Given the description of an element on the screen output the (x, y) to click on. 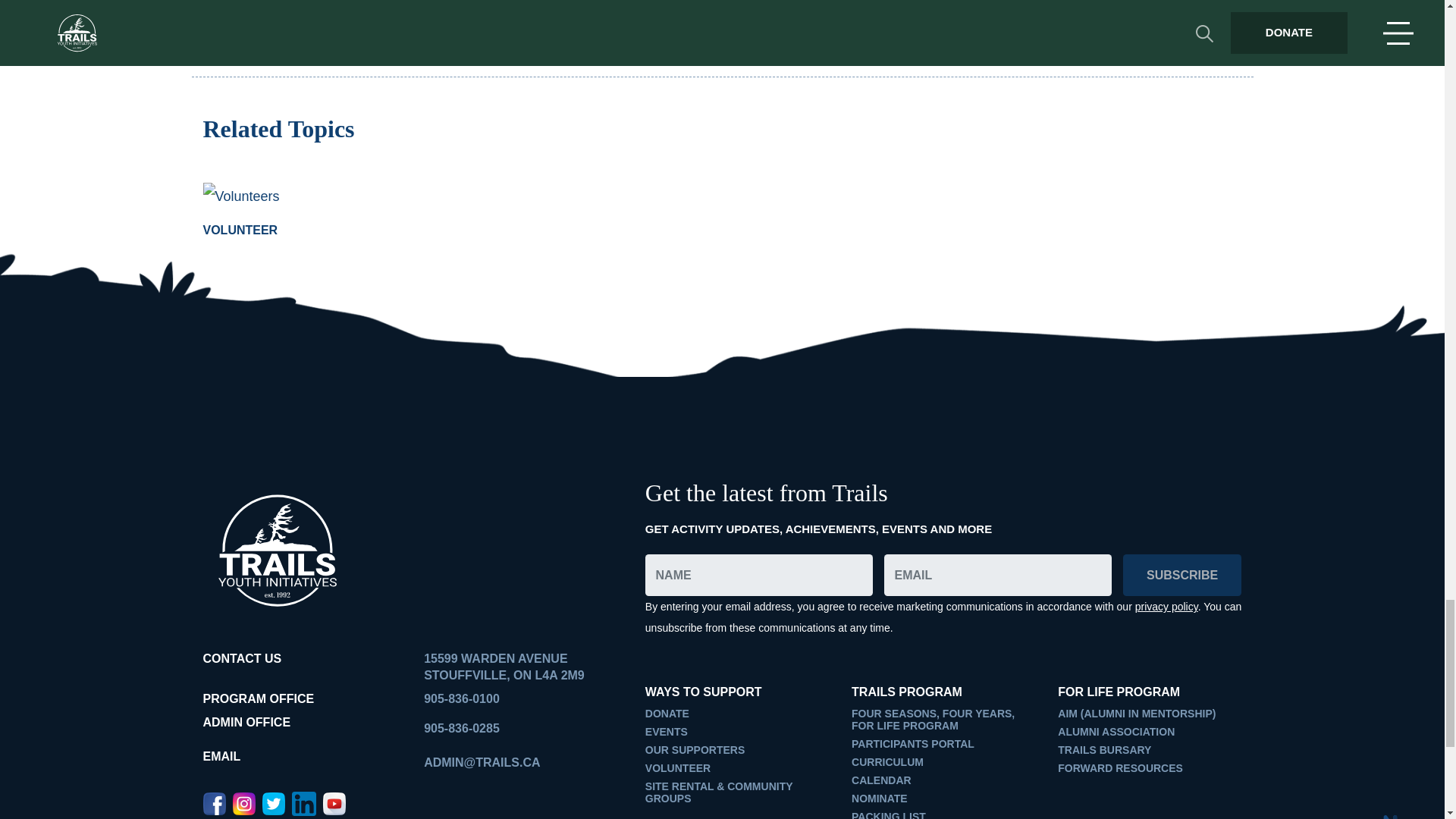
Subscribe (1181, 575)
